Given the description of an element on the screen output the (x, y) to click on. 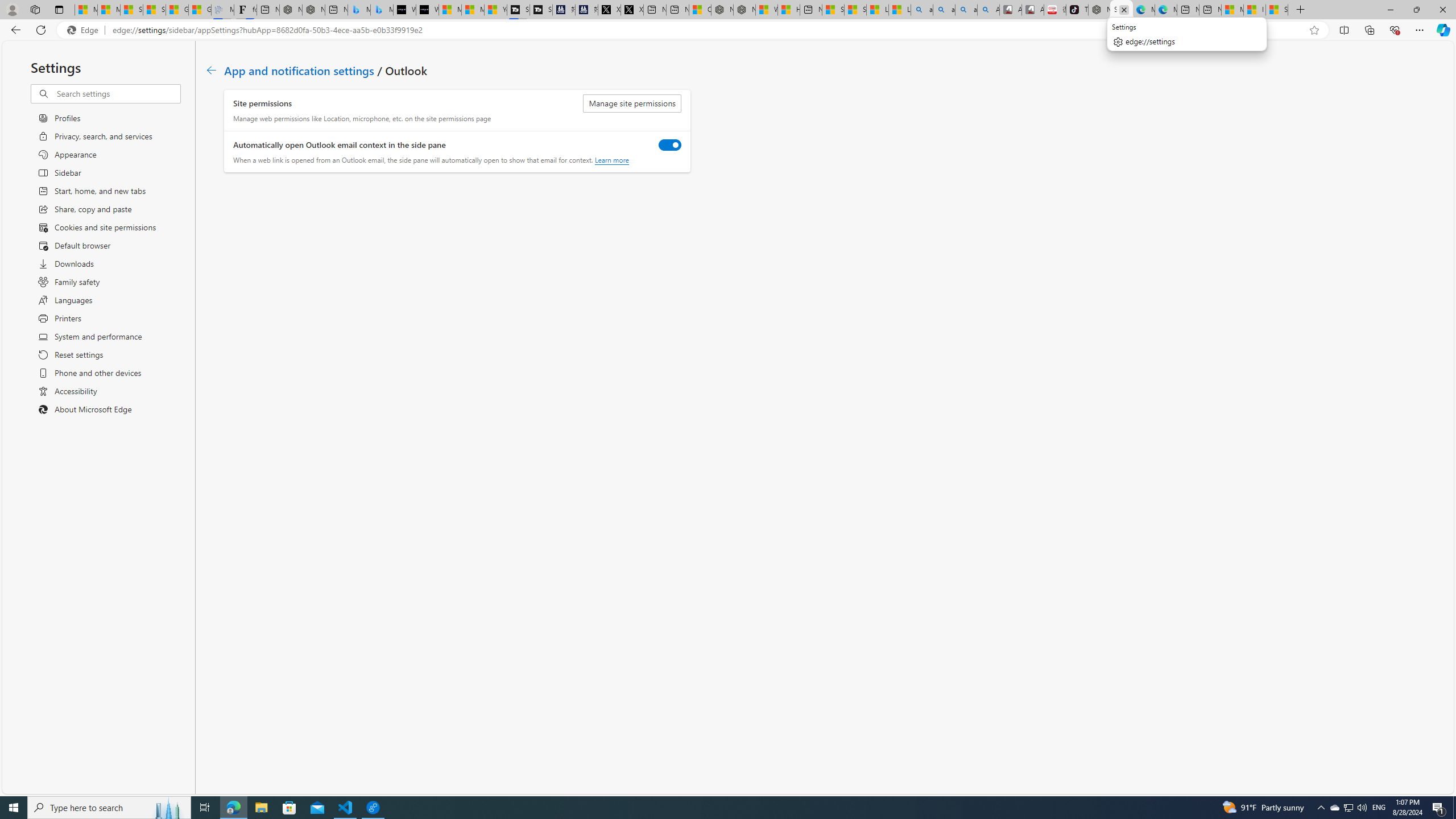
Automatically open Outlook email context in the side pane (669, 144)
Manage site permissions (631, 103)
amazon - Search Images (966, 9)
